Given the description of an element on the screen output the (x, y) to click on. 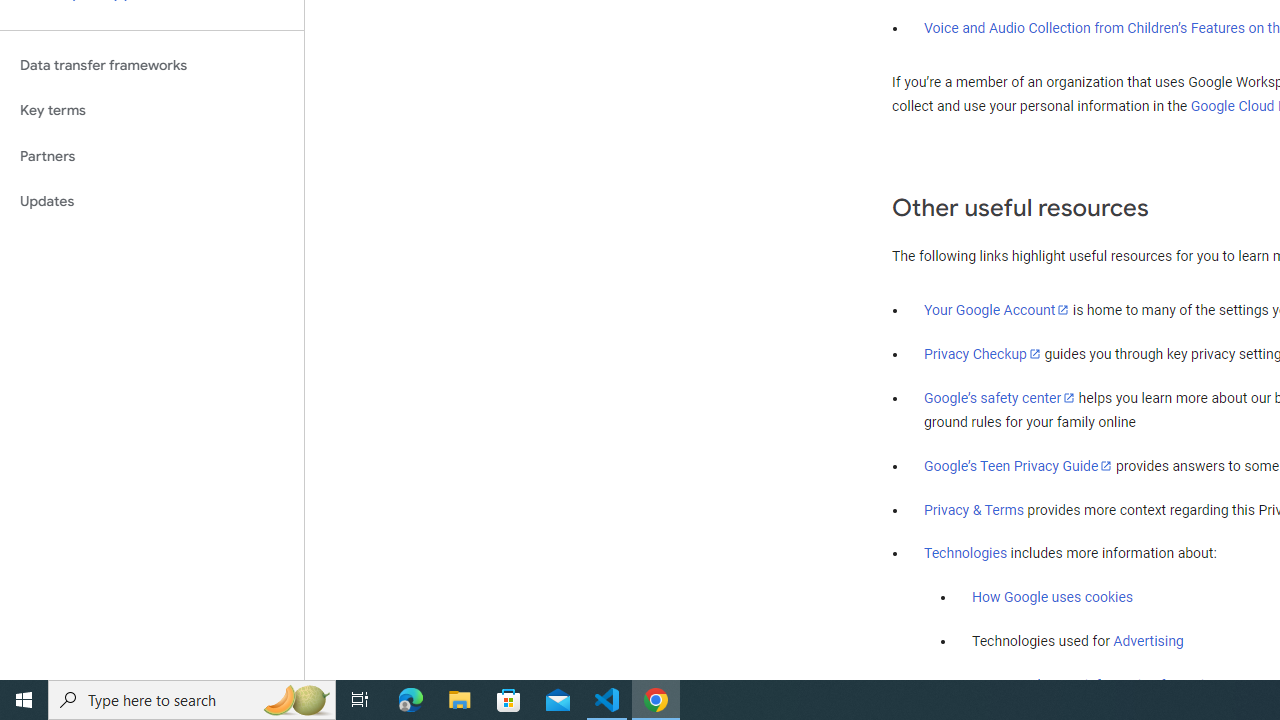
Advertising (1148, 641)
Your Google Account (997, 309)
Privacy Checkup (982, 353)
How Google uses cookies (1052, 597)
